Given the description of an element on the screen output the (x, y) to click on. 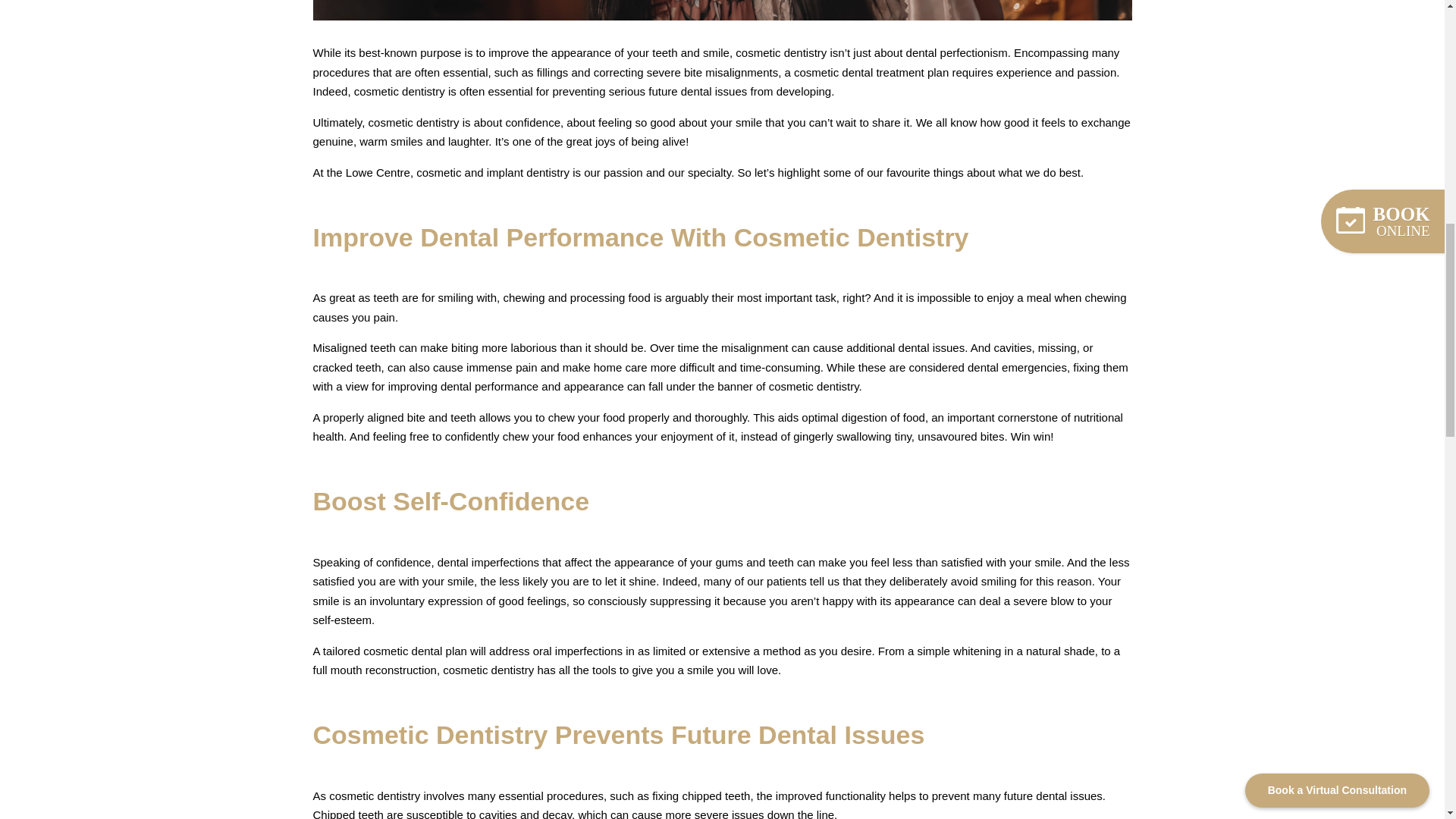
Cosmetic Dentistry (722, 10)
